Given the description of an element on the screen output the (x, y) to click on. 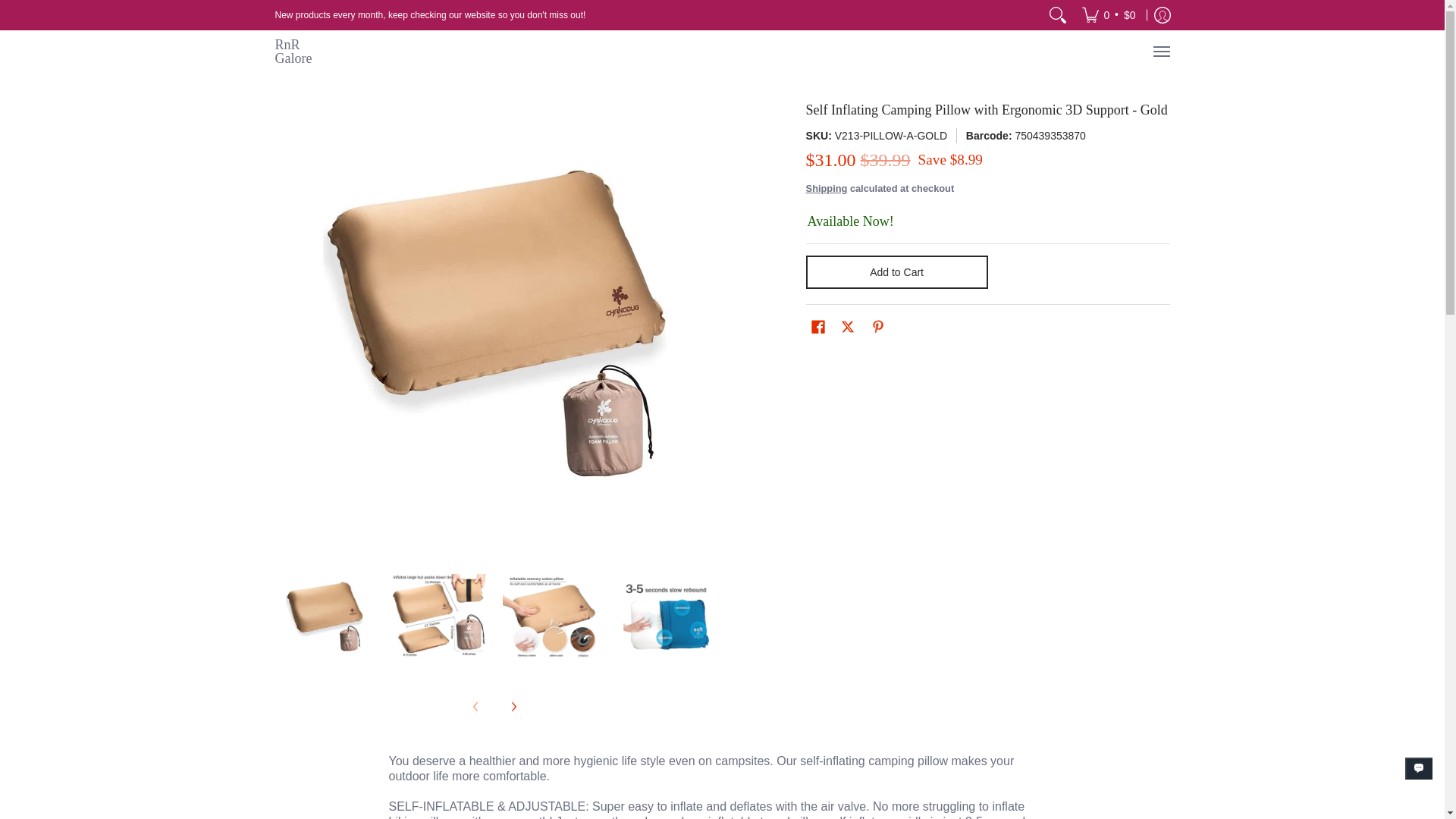
RnR Galore (304, 51)
Log in (1161, 15)
Cart (1108, 15)
RnR Galore (304, 51)
